Given the description of an element on the screen output the (x, y) to click on. 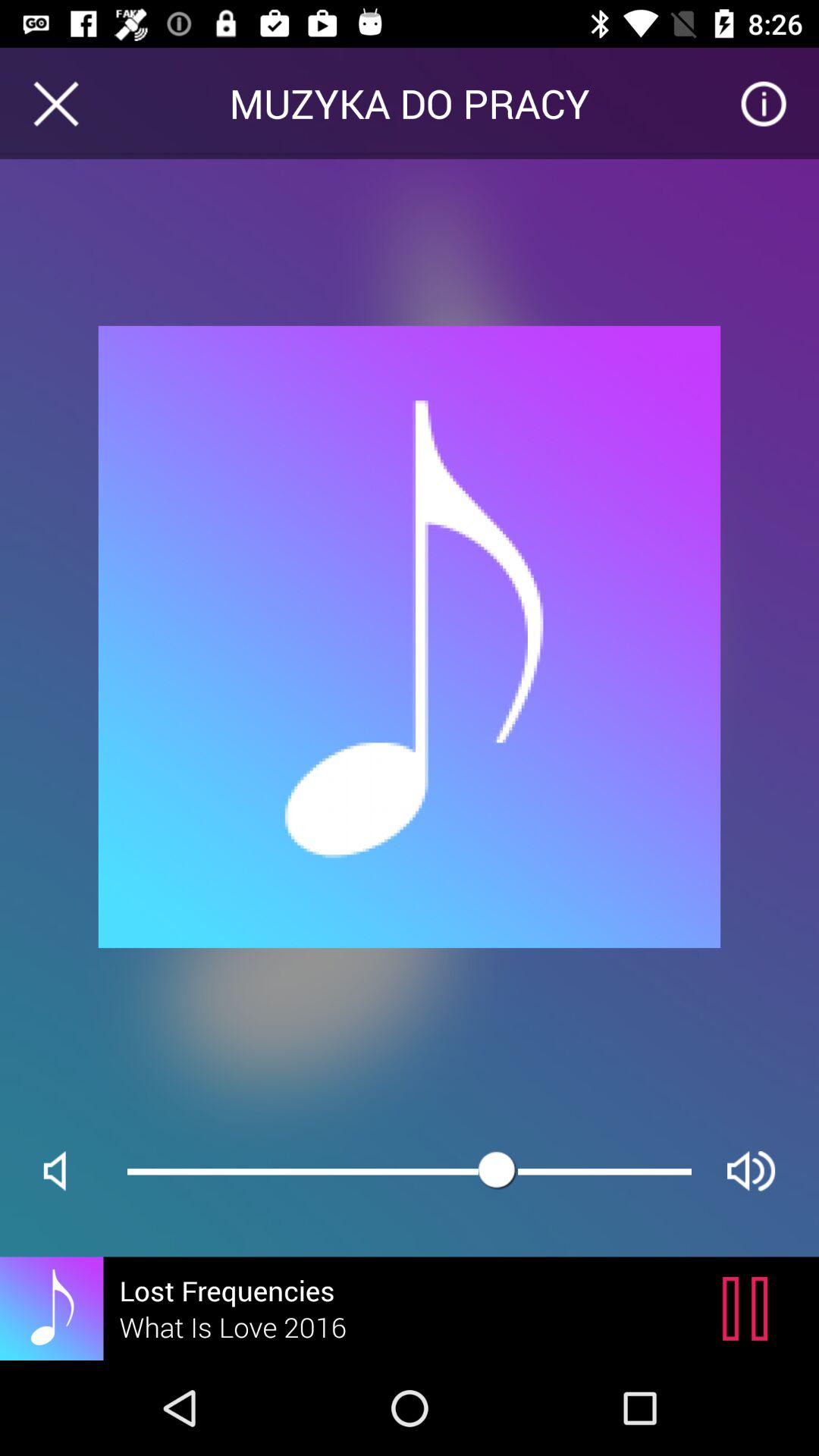
turn off the icon to the right of the muzyka do pracy (763, 103)
